Given the description of an element on the screen output the (x, y) to click on. 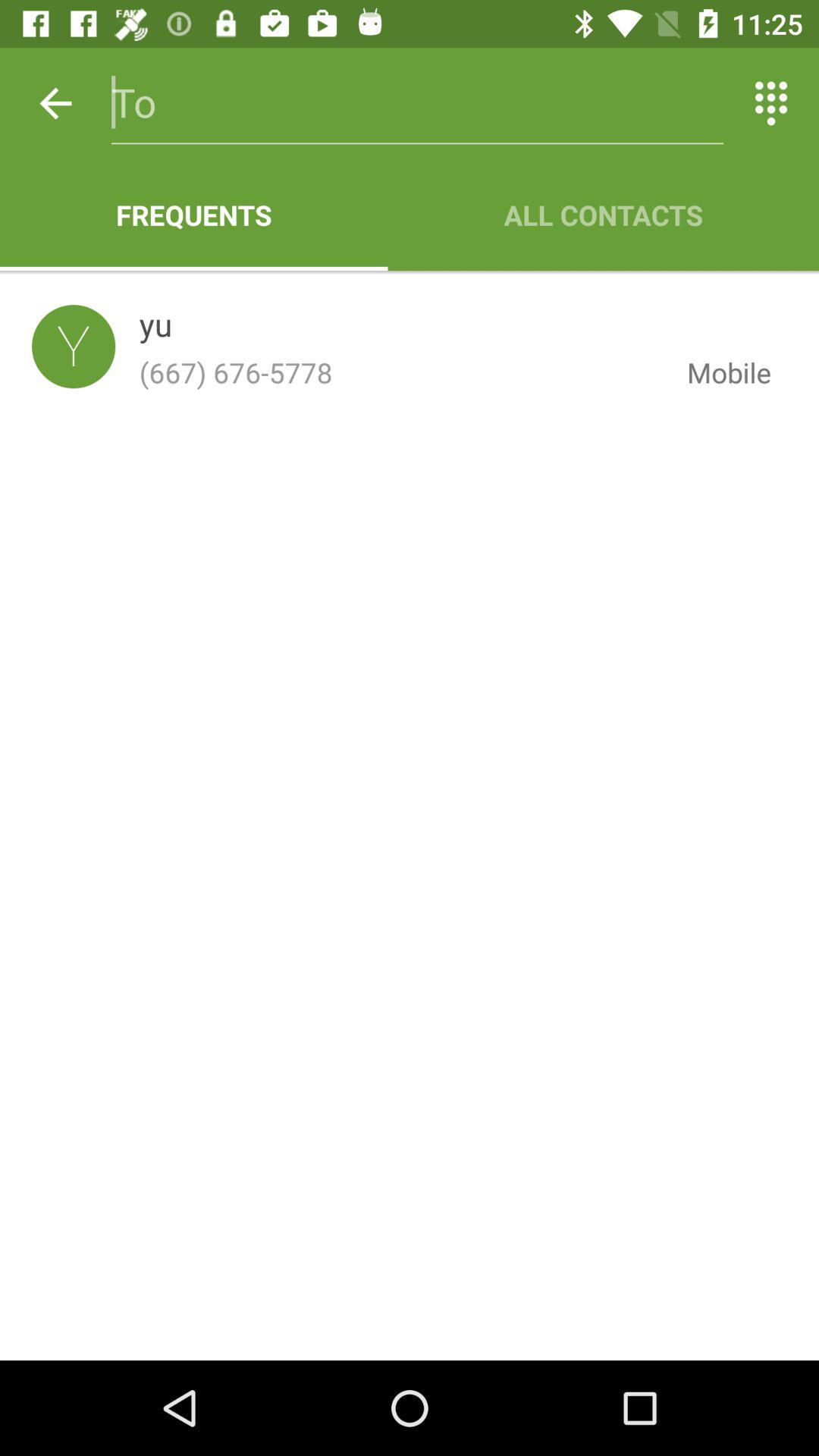
press the item above (667) 676-5778 icon (155, 327)
